Given the description of an element on the screen output the (x, y) to click on. 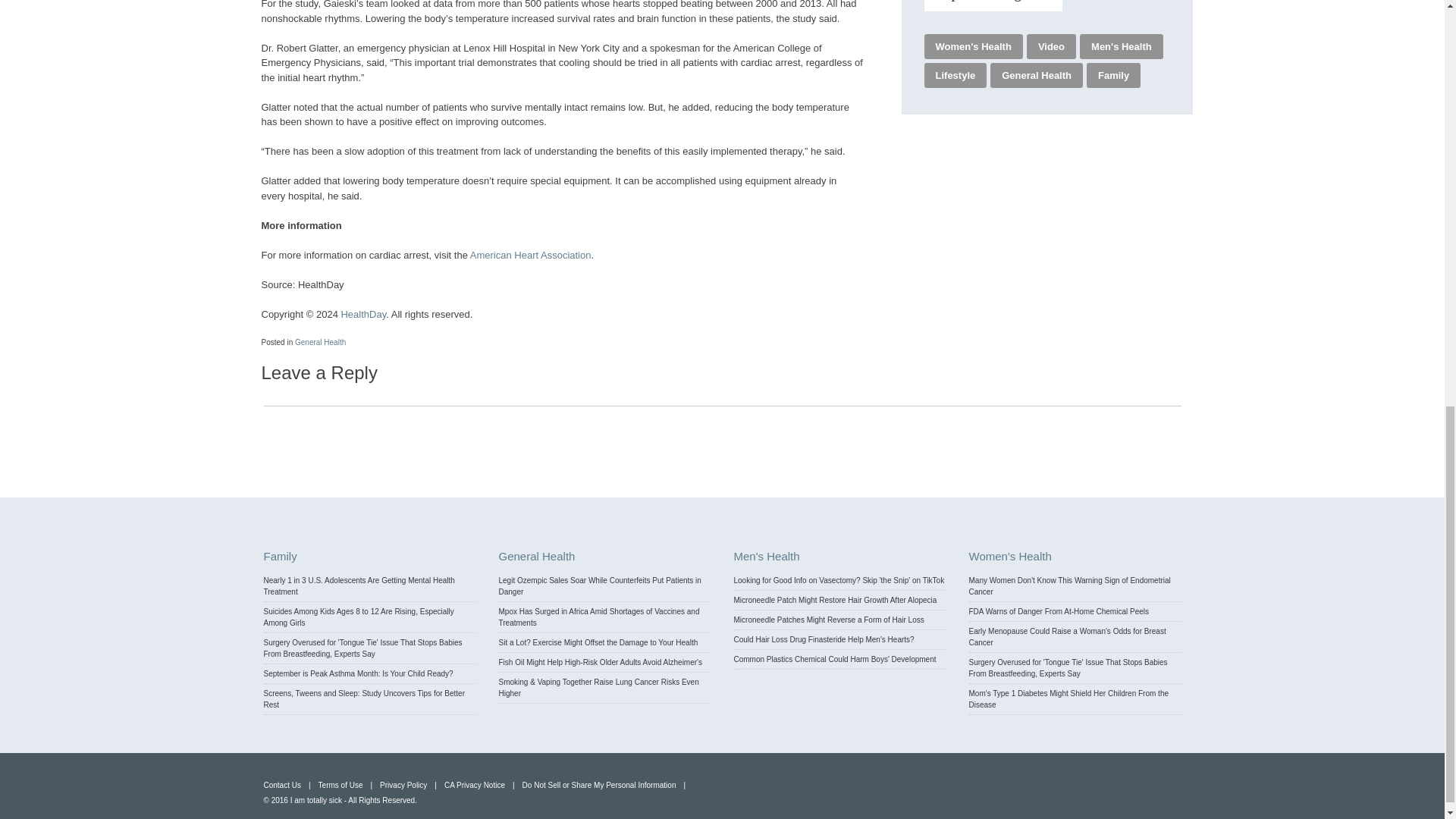
Family (1115, 76)
Do Not Sell or Share My Personal Information (599, 785)
Women's Health (974, 47)
HealthDay (362, 314)
Video (1053, 47)
General Health (1038, 76)
September is Peak Asthma Month: Is Your Child Ready? (357, 673)
General Health (320, 342)
Lifestyle (956, 76)
Men's Health (1123, 47)
American Heart Association (530, 255)
